Given the description of an element on the screen output the (x, y) to click on. 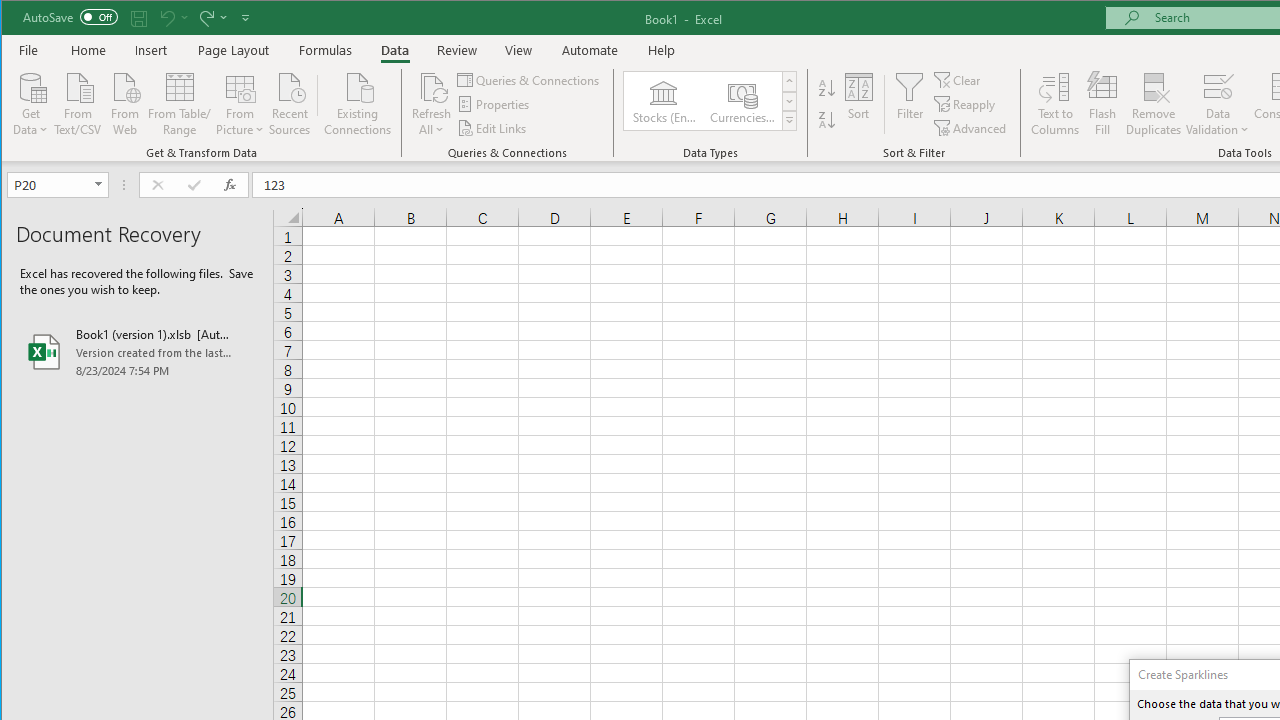
Sort Smallest to Largest (827, 88)
Sort Largest to Smallest (827, 119)
